Given the description of an element on the screen output the (x, y) to click on. 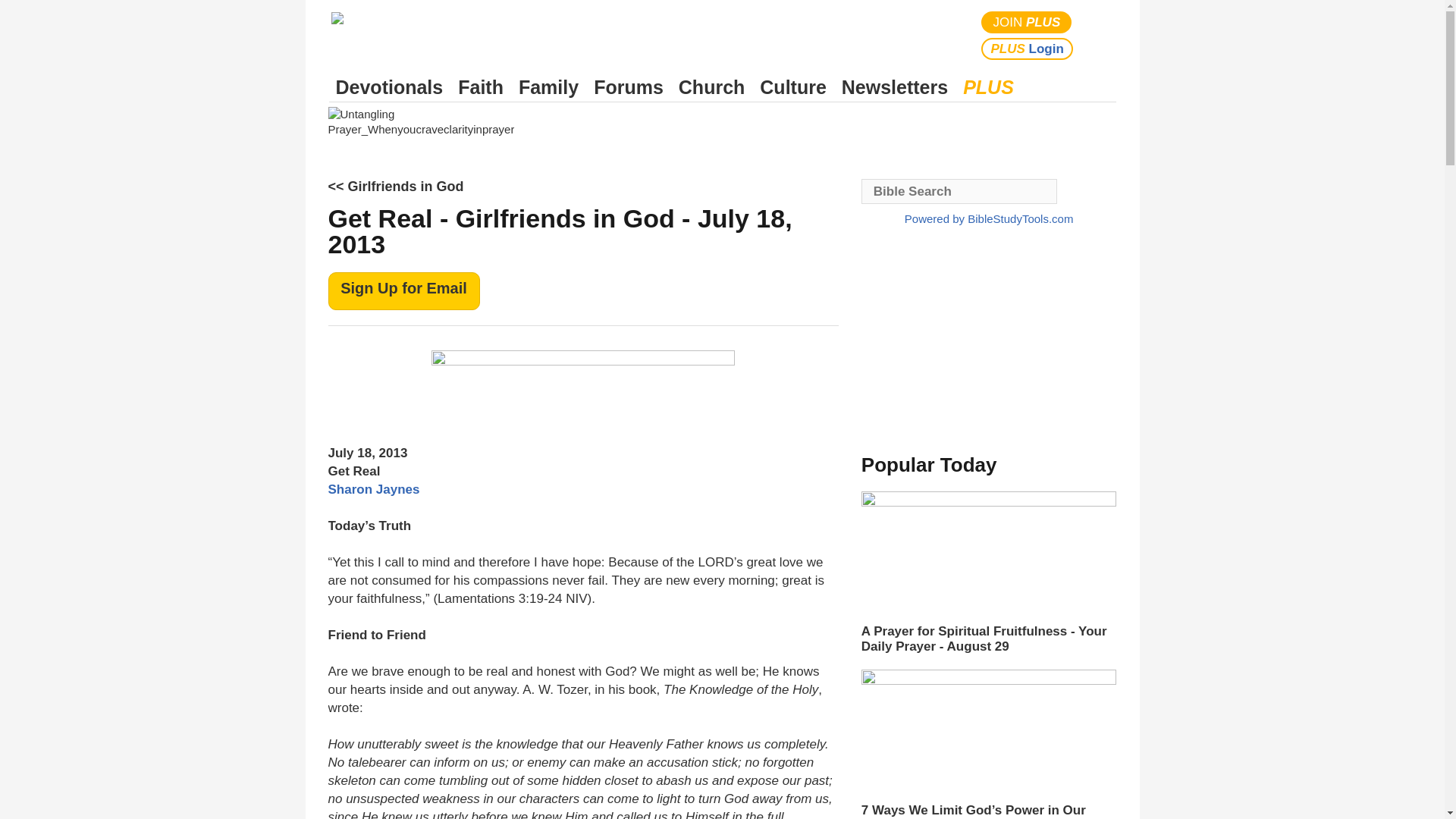
PLUS Login (1026, 48)
JOIN PLUS (1026, 22)
Search (1101, 34)
Faith (481, 87)
Join Plus (1026, 22)
Devotionals (389, 87)
Family (548, 87)
Plus Login (1026, 48)
